Given the description of an element on the screen output the (x, y) to click on. 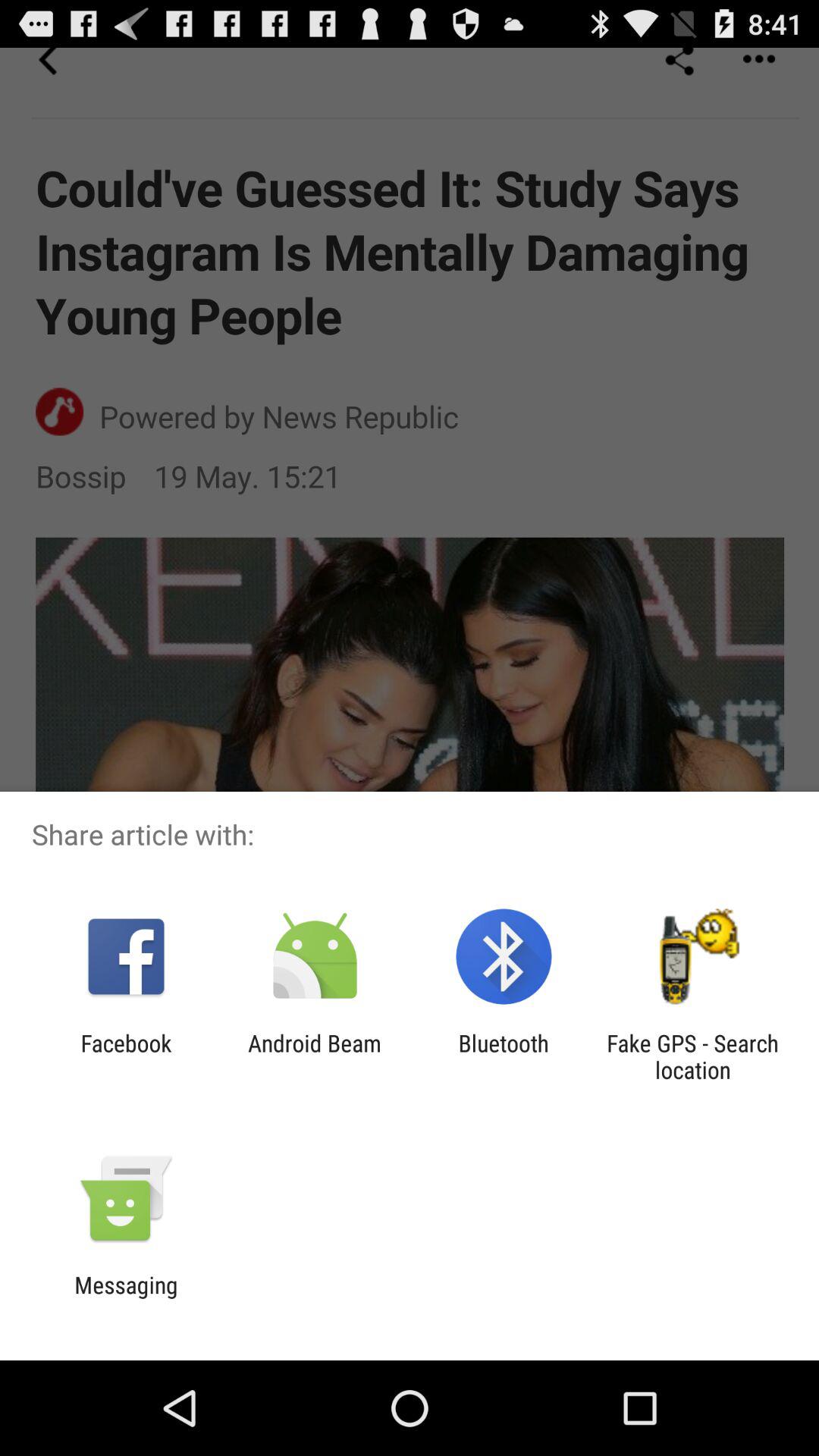
open app to the left of fake gps search (503, 1056)
